Given the description of an element on the screen output the (x, y) to click on. 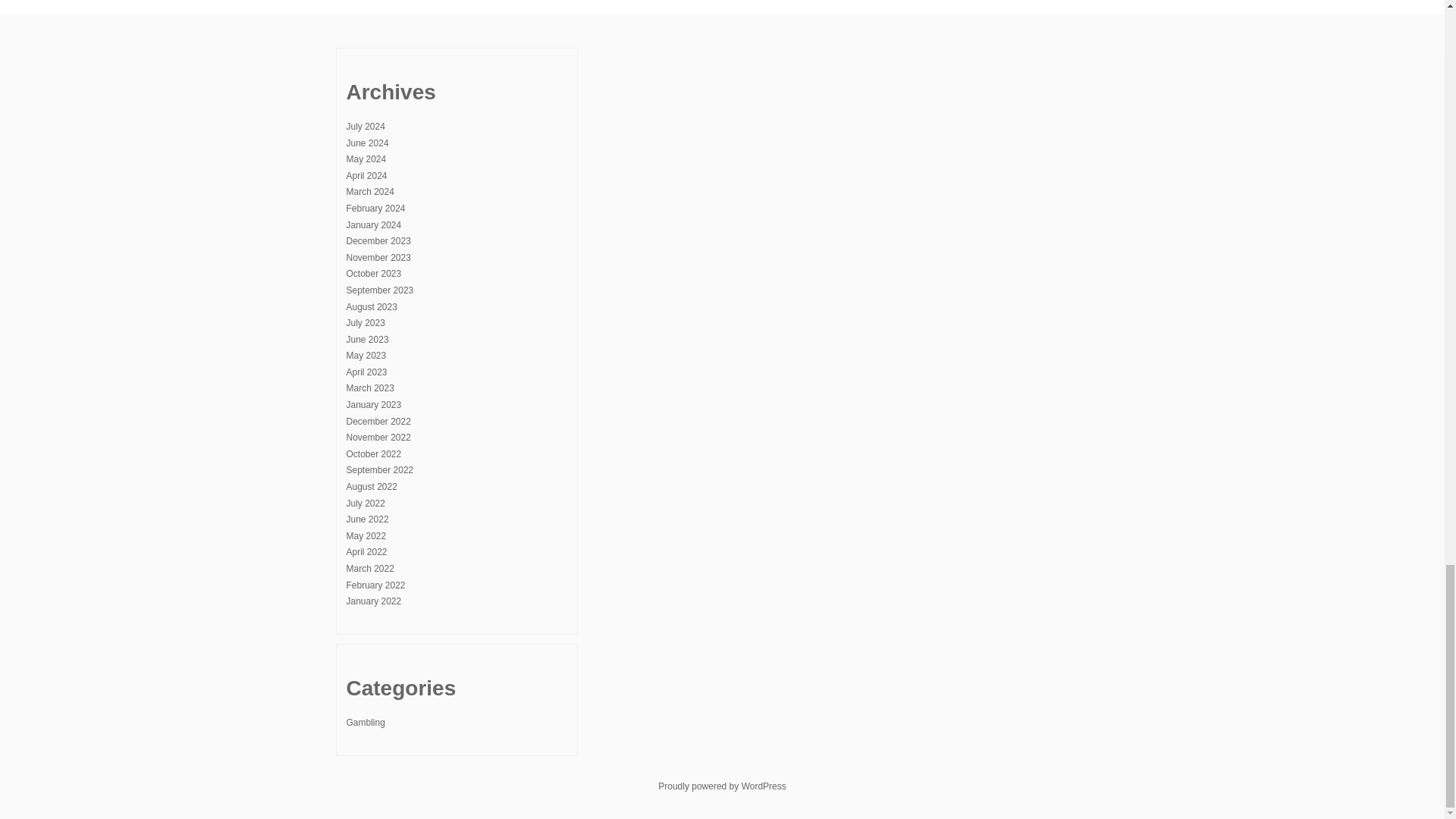
January 2024 (373, 225)
October 2023 (373, 273)
January 2023 (373, 404)
December 2023 (378, 240)
June 2023 (367, 339)
May 2023 (365, 355)
March 2023 (369, 388)
November 2022 (378, 437)
September 2023 (379, 290)
July 2022 (365, 502)
May 2024 (365, 158)
April 2023 (366, 371)
November 2023 (378, 257)
August 2022 (371, 486)
April 2024 (366, 175)
